Given the description of an element on the screen output the (x, y) to click on. 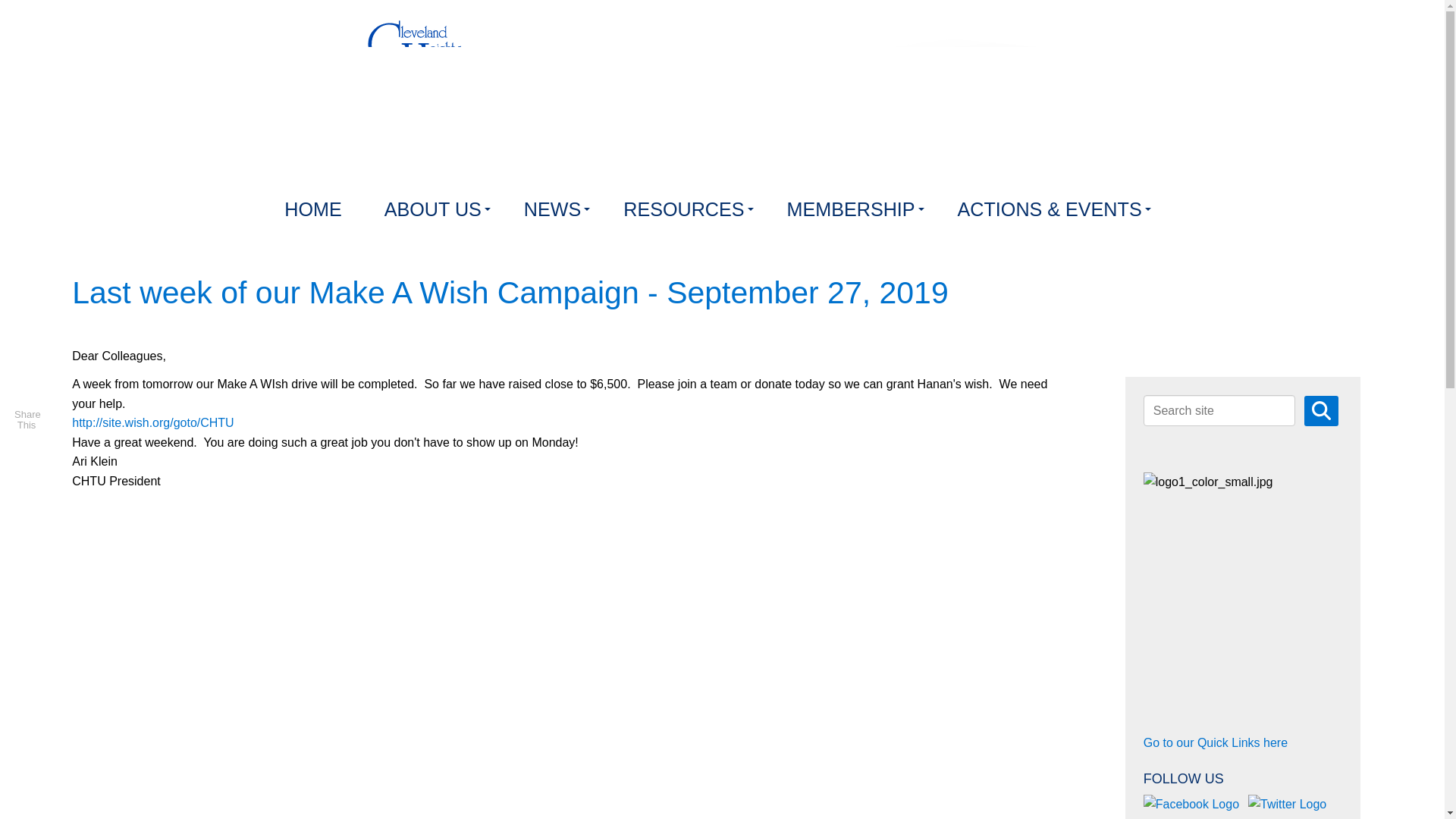
Search (1321, 410)
Search (1321, 410)
HOME (315, 209)
Go to our Quick Links here (1214, 742)
